Given the description of an element on the screen output the (x, y) to click on. 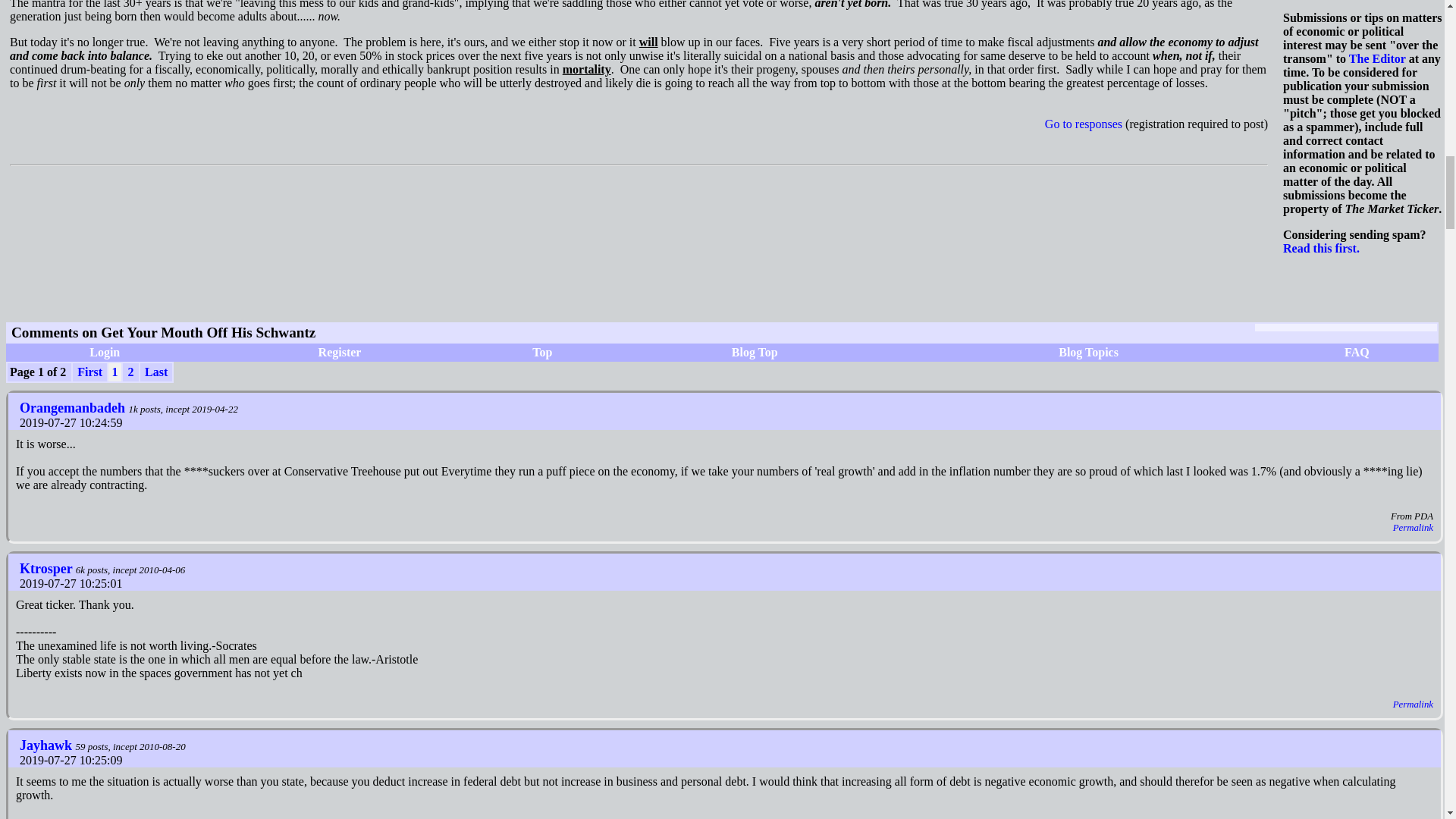
The Editor (1377, 58)
Last (156, 371)
FAQ (1356, 351)
Top (541, 351)
Blog Top (754, 351)
Read this first. (1320, 247)
Login (103, 351)
Blog Topics (1088, 351)
First (89, 371)
Register (339, 351)
Go to responses (1083, 123)
